Given the description of an element on the screen output the (x, y) to click on. 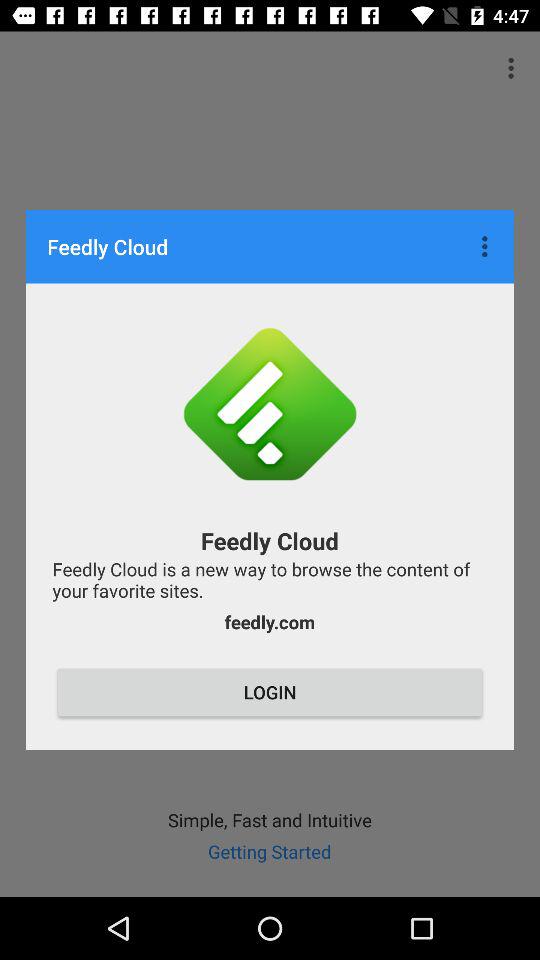
click icon at the top right corner (487, 246)
